Given the description of an element on the screen output the (x, y) to click on. 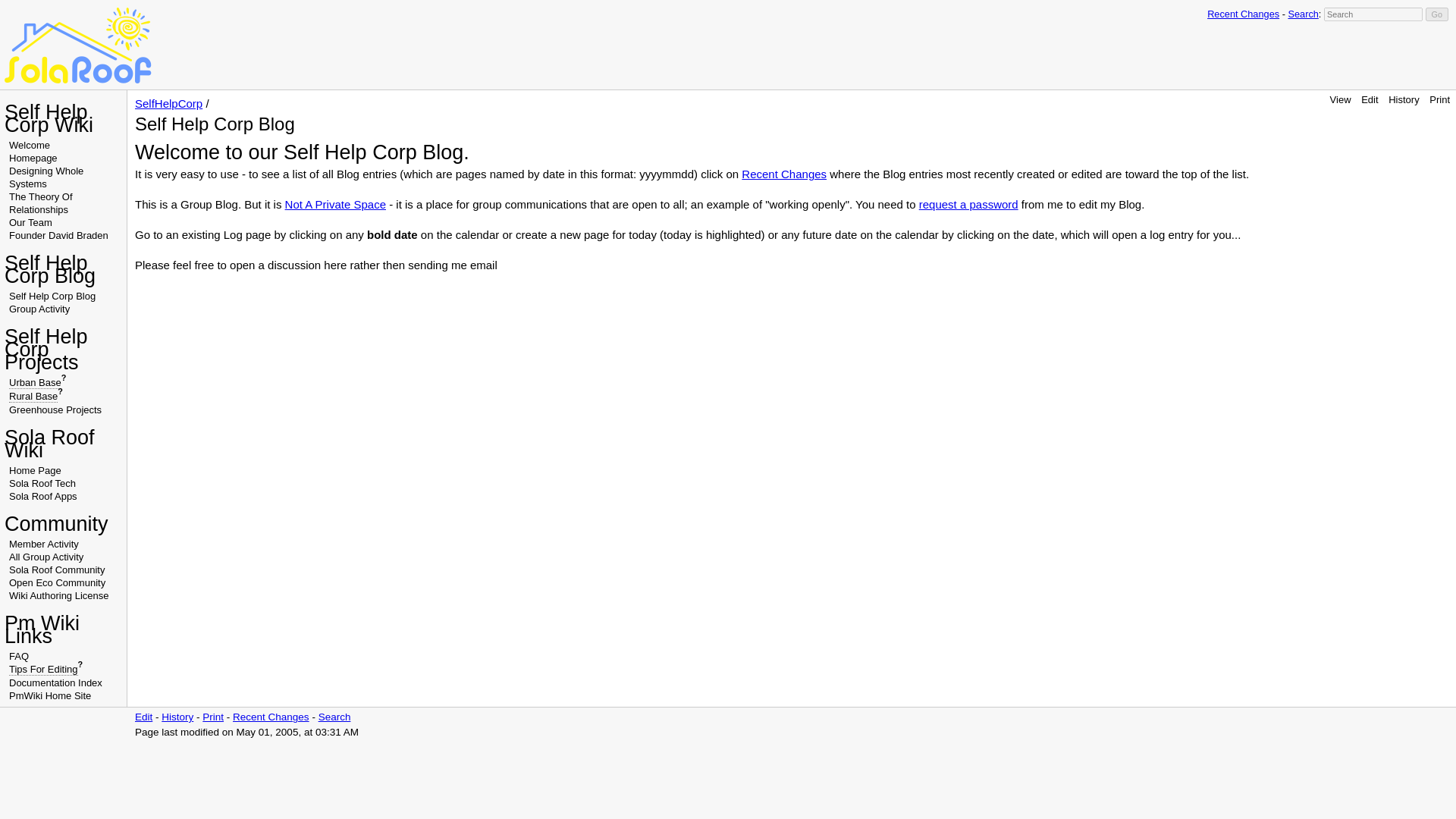
Founder David Braden (57, 235)
History (177, 716)
The Theory Of Relationships (40, 202)
Group Activity (38, 308)
View (1340, 99)
FAQ (18, 655)
Welcome (28, 144)
All Group Activity (45, 556)
Member Activity (43, 543)
Edit (1369, 99)
Not A Private Space (335, 204)
Rural Base (33, 396)
Designing Whole Systems (45, 177)
Open Eco Community (56, 582)
Homepage (33, 157)
